Given the description of an element on the screen output the (x, y) to click on. 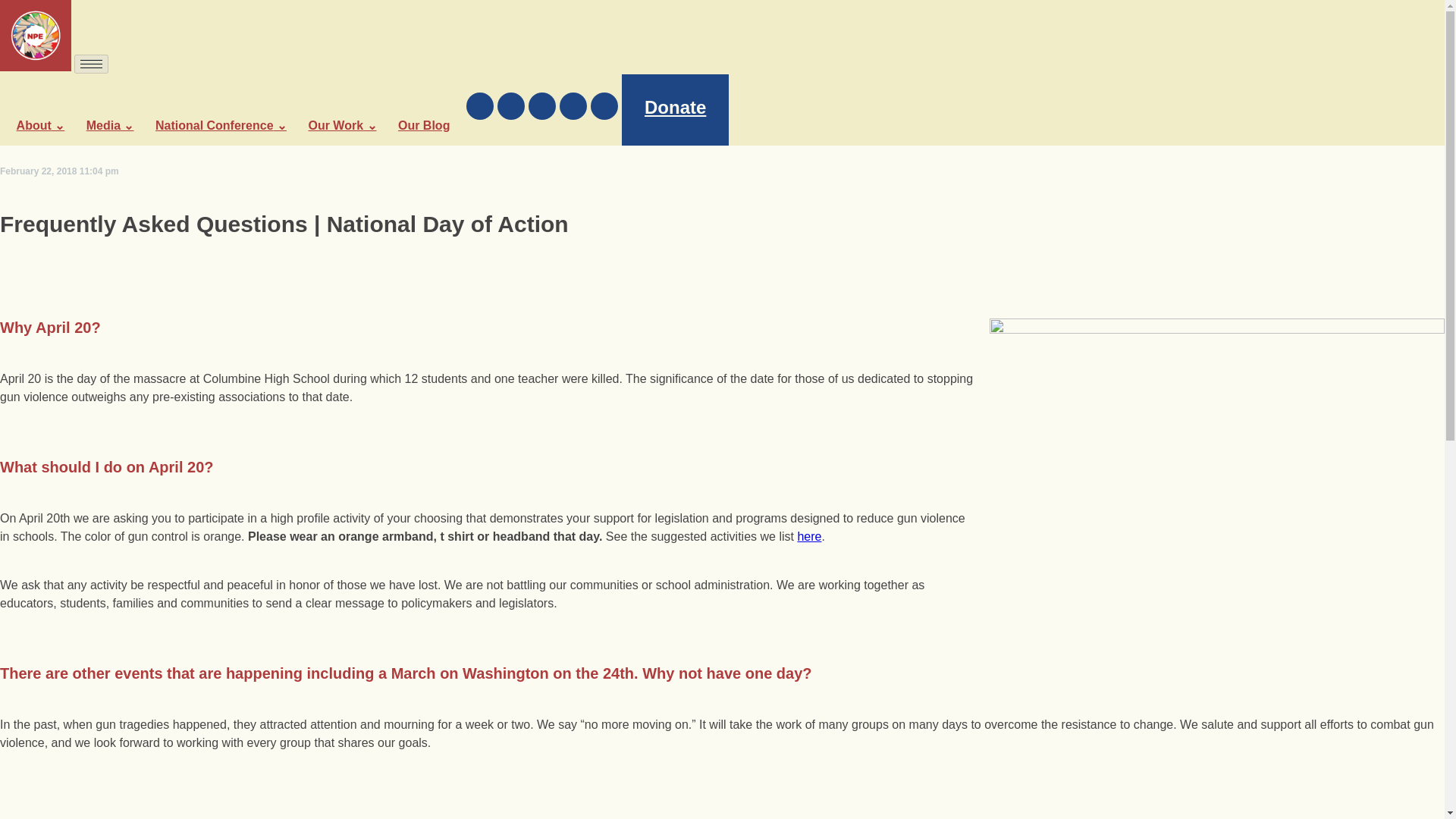
Our Work (341, 124)
donate (675, 109)
instagram (543, 105)
Media (109, 124)
National Conference (220, 124)
Our Blog (423, 124)
here (808, 535)
twitter (512, 105)
facebook (481, 105)
About (40, 124)
